Given the description of an element on the screen output the (x, y) to click on. 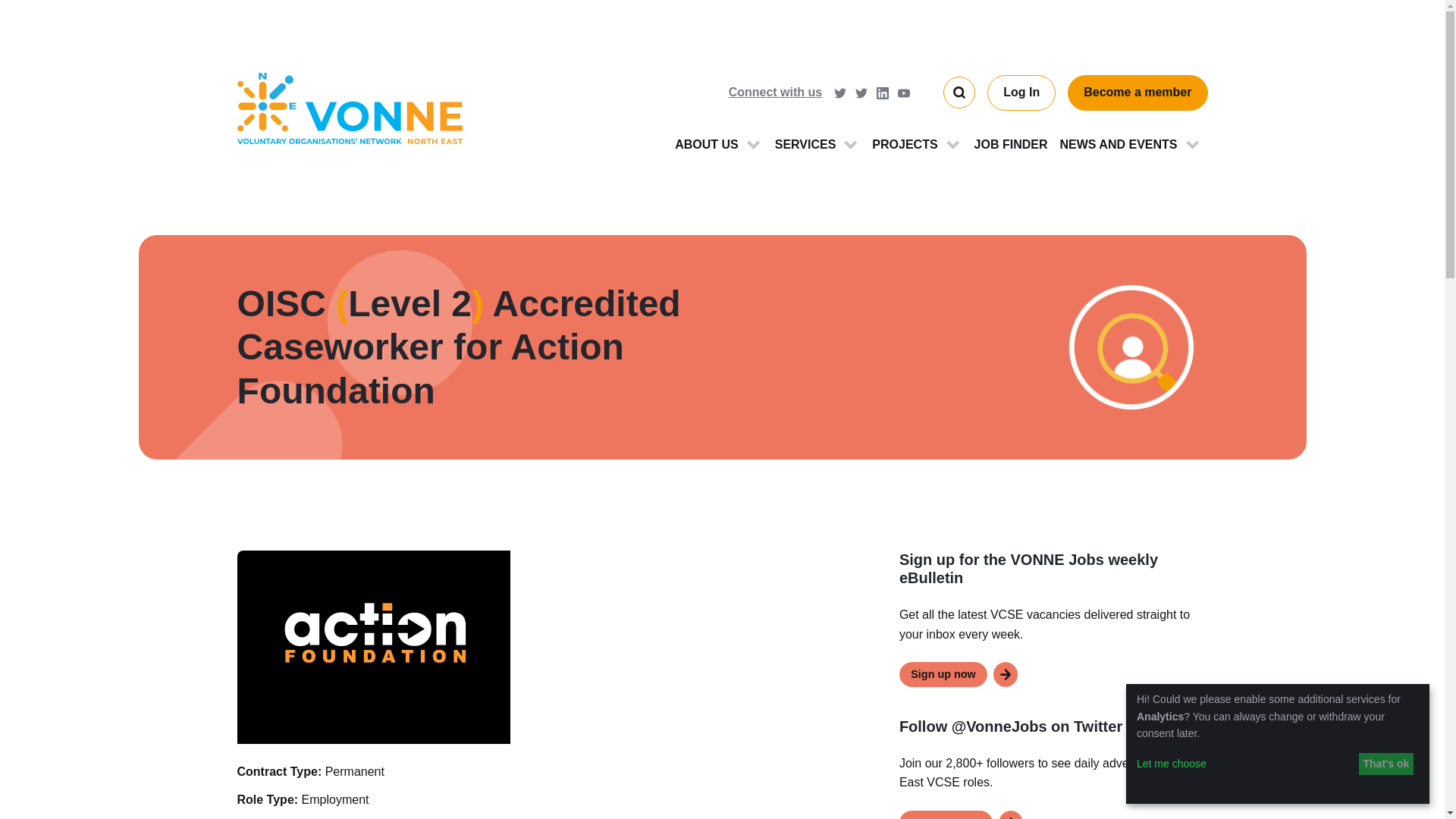
Connect with us (778, 92)
SERVICES (817, 144)
Log In (1021, 92)
ABOUT US (718, 144)
Become a member (1137, 92)
